Given the description of an element on the screen output the (x, y) to click on. 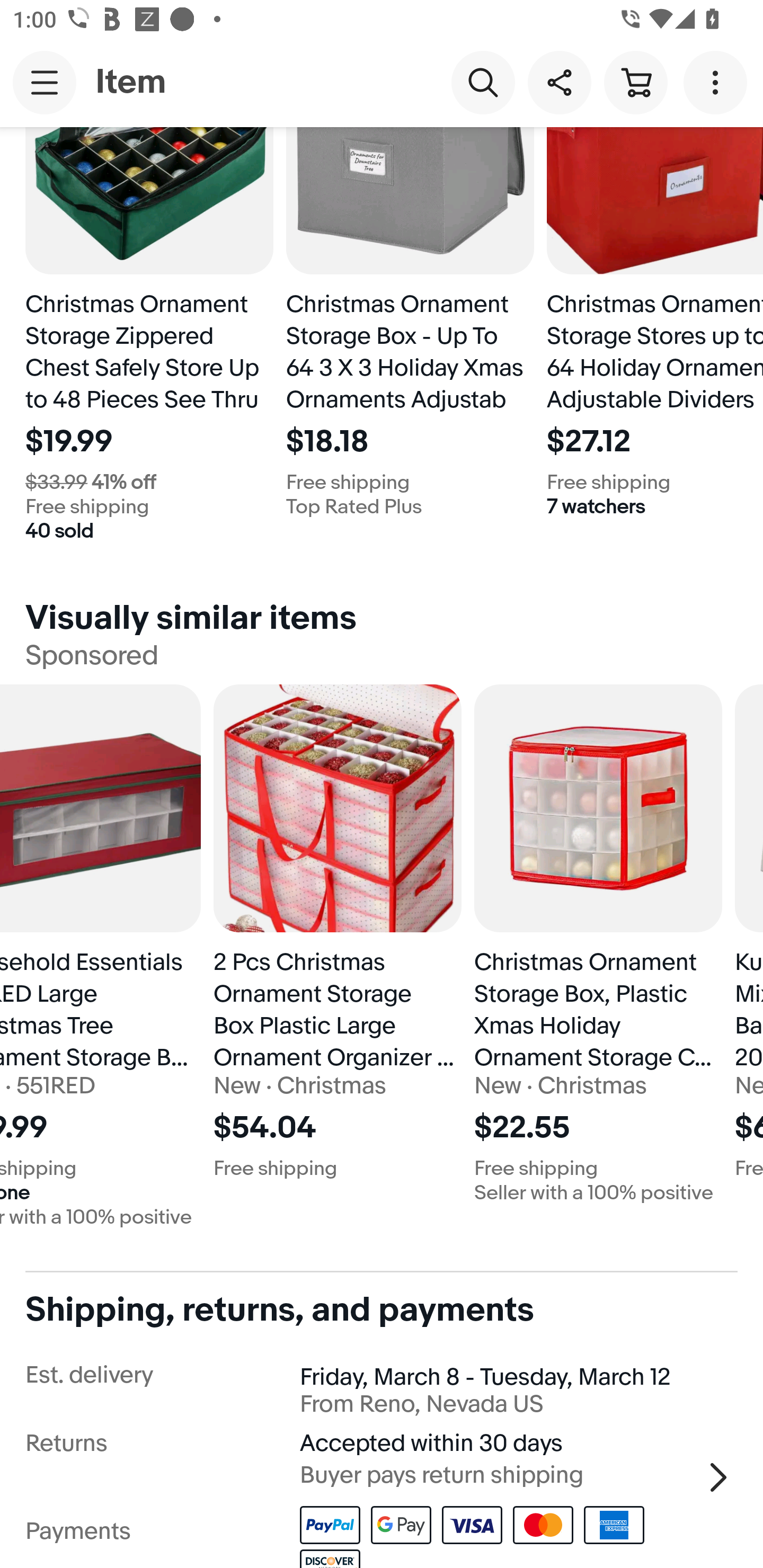
Main navigation, open (44, 82)
Search (482, 81)
Share this item (559, 81)
Cart button shopping cart (635, 81)
More options (718, 81)
